Given the description of an element on the screen output the (x, y) to click on. 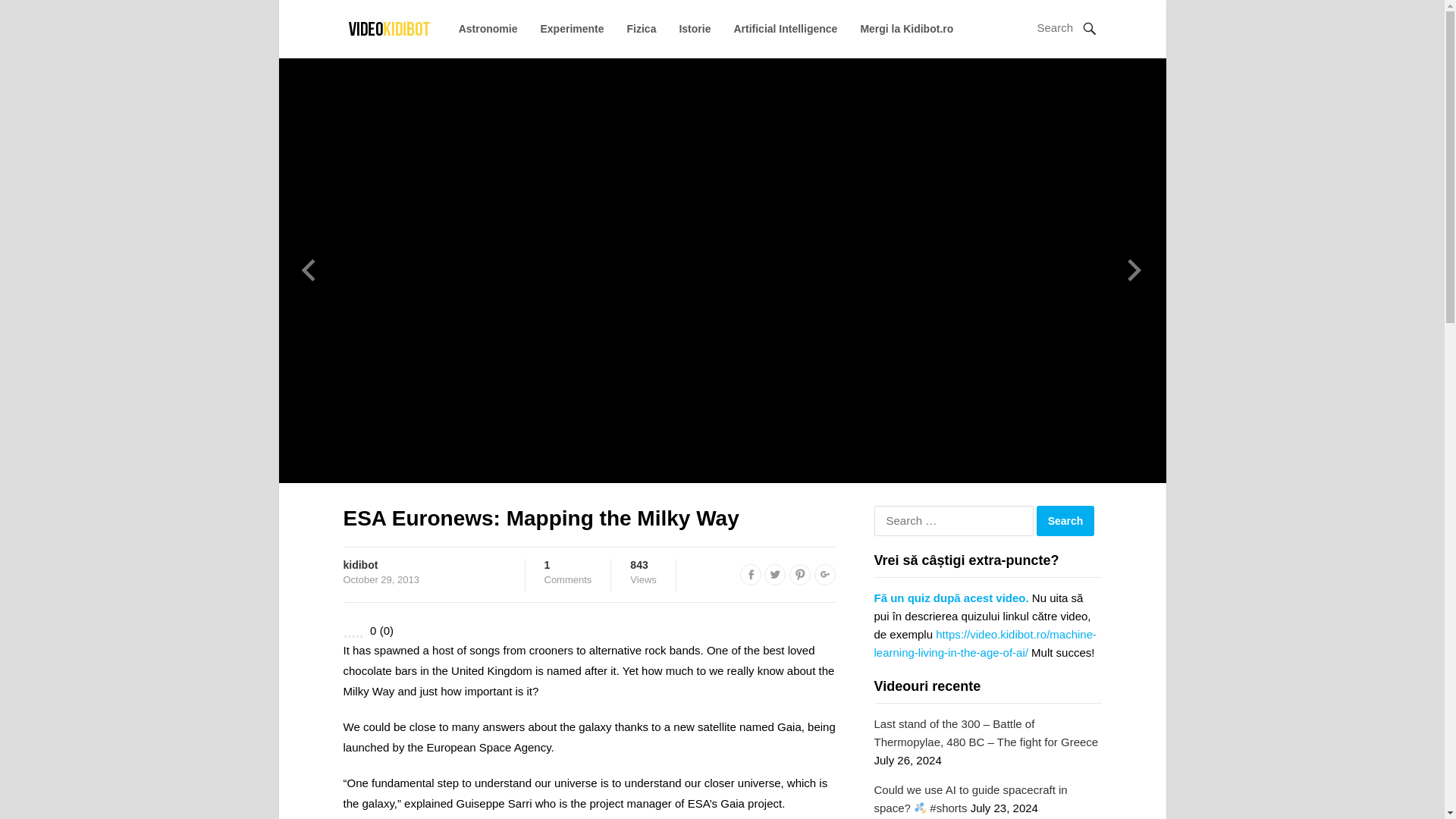
kidibot (359, 564)
Experimente (572, 28)
Posts by kidibot (359, 564)
Artificial Intelligence (785, 28)
Astronomie (568, 572)
Share on Twitter (488, 28)
Share on Pinterest (775, 574)
Mergi la Kidibot.ro (799, 574)
Search (906, 28)
Share on Facebook (1065, 521)
Search (750, 574)
